Given the description of an element on the screen output the (x, y) to click on. 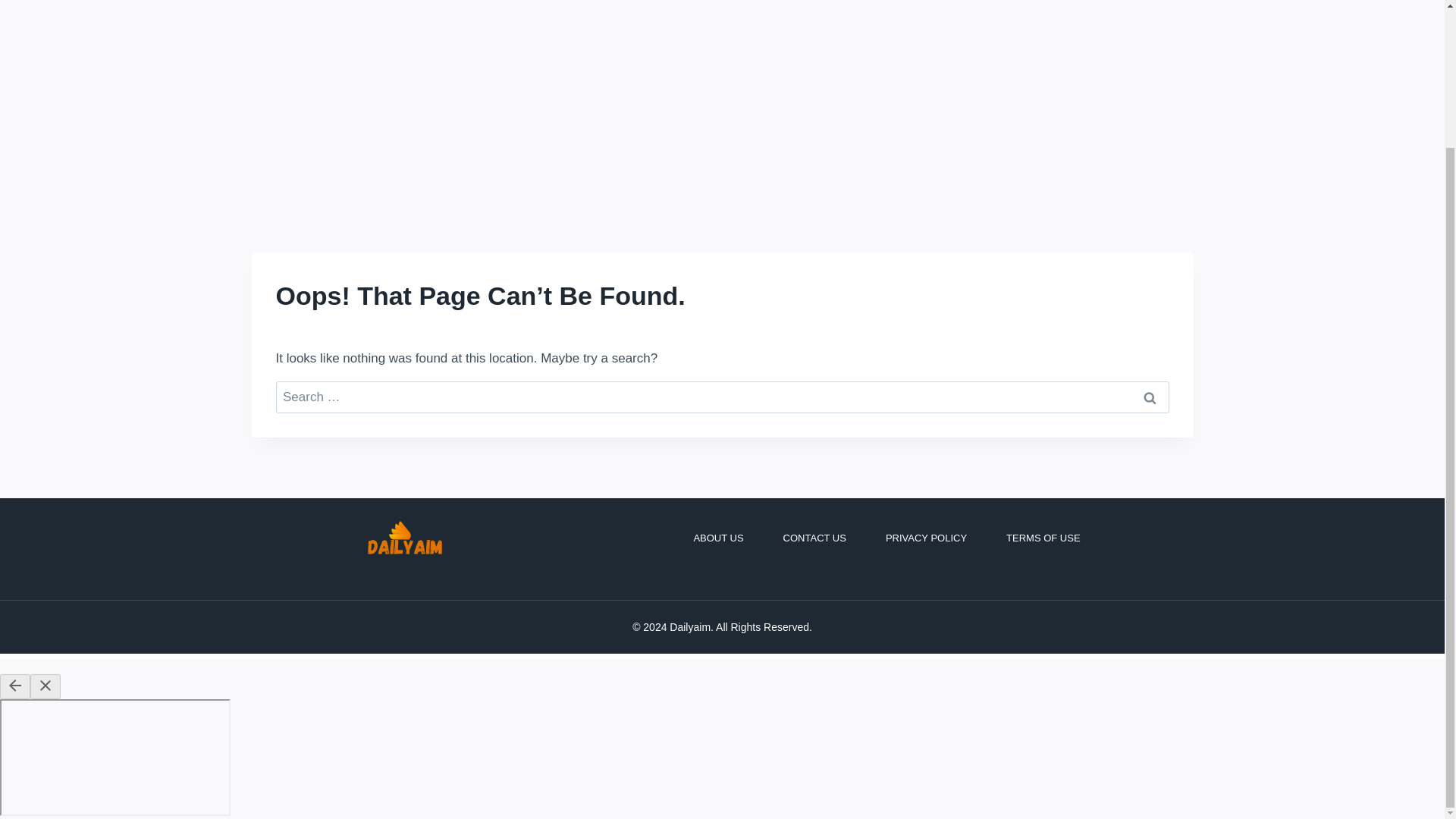
Search (1150, 397)
Search (1150, 397)
